Given the description of an element on the screen output the (x, y) to click on. 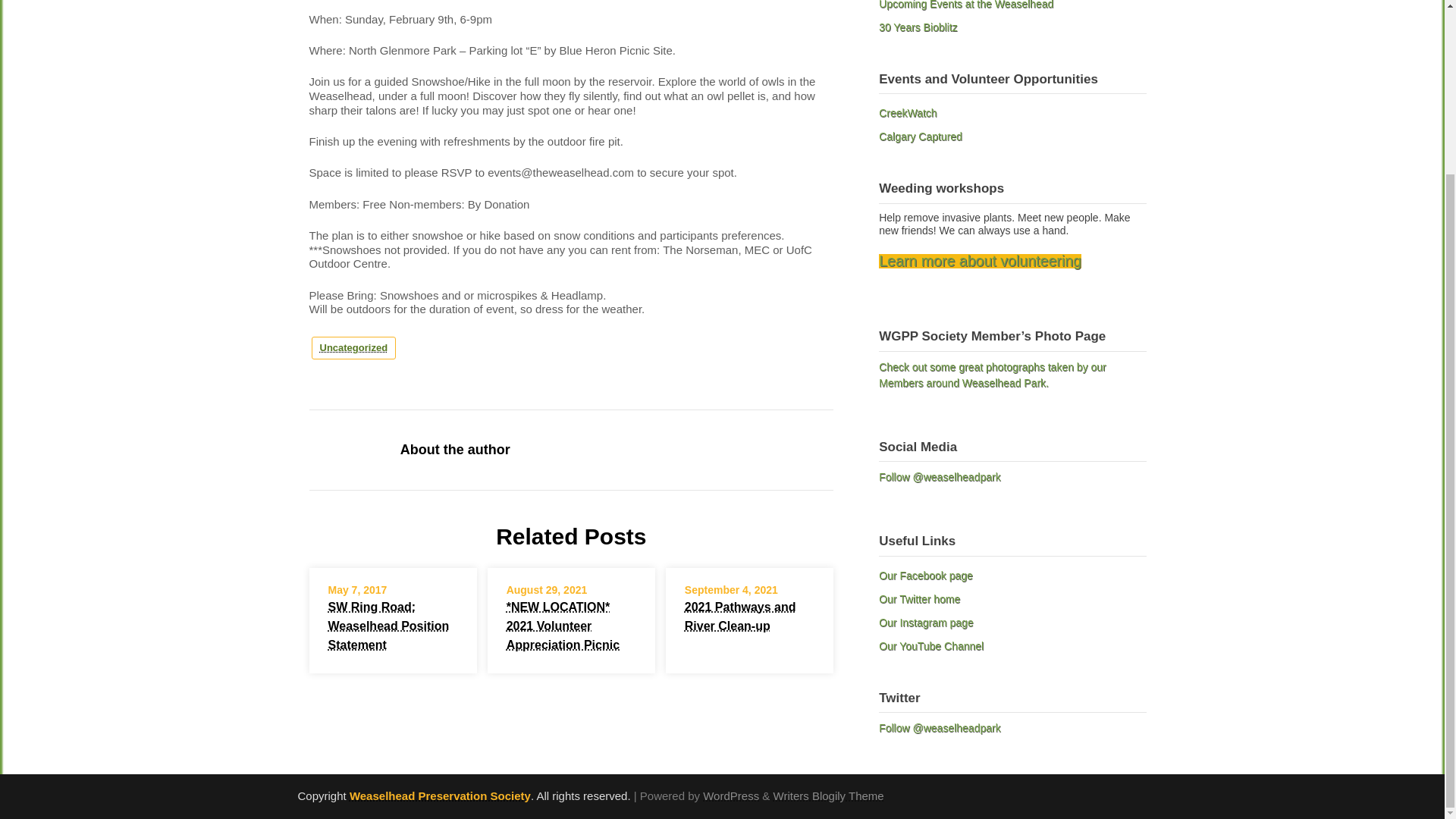
Learn more about volunteering (980, 260)
Uncategorized (353, 348)
Calgary Captured (920, 136)
30 Years Bioblitz (918, 27)
2021 Pathways and River Clean-up (740, 616)
Upcoming Events at the Weaselhead (965, 4)
CreekWatch (908, 112)
SW Ring Road: Weaselhead Position Statement (387, 625)
